Given the description of an element on the screen output the (x, y) to click on. 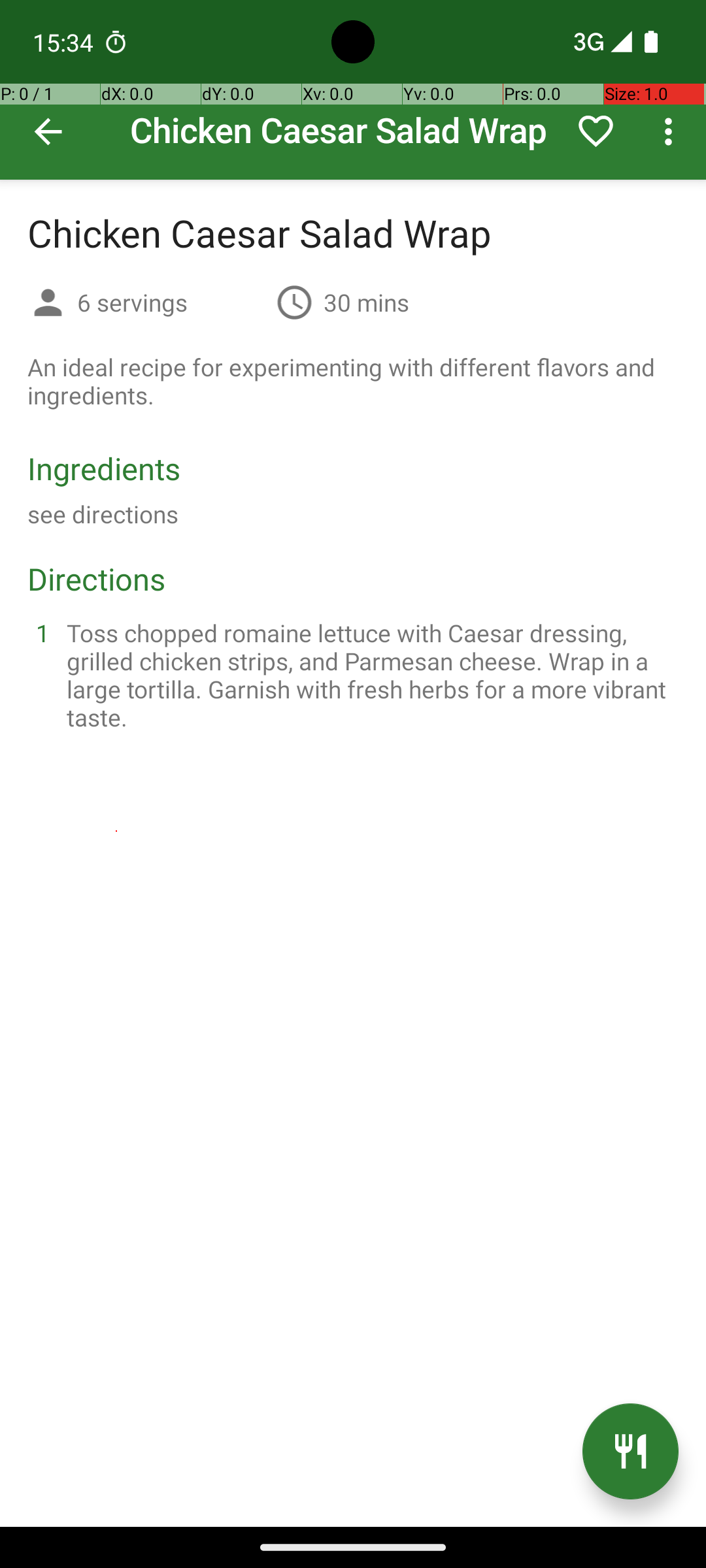
Toss chopped romaine lettuce with Caesar dressing, grilled chicken strips, and Parmesan cheese. Wrap in a large tortilla. Garnish with fresh herbs for a more vibrant taste. Element type: android.widget.TextView (368, 674)
